Given the description of an element on the screen output the (x, y) to click on. 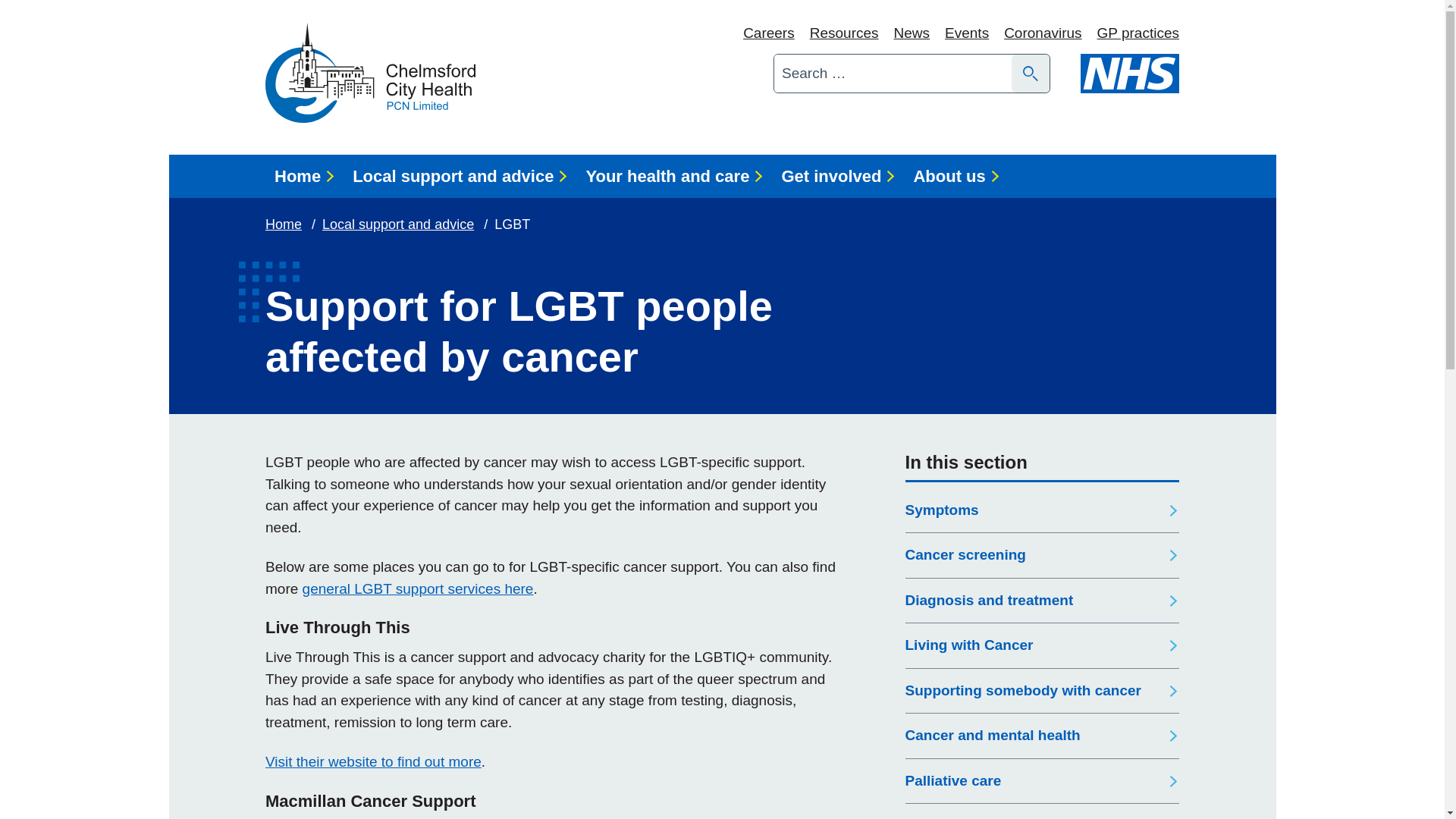
News (911, 33)
About us (955, 176)
Go to Local support and advice. (399, 224)
Go to The Chelmsford City Health PCN. (284, 224)
general LGBT support services here (418, 588)
Your health and care (673, 176)
The Chelmsford City Health PCN Homepage (370, 72)
Visit their website to find out more (372, 761)
Home (284, 224)
Local support and advice (459, 176)
Coronavirus (1042, 33)
Local support and advice (399, 224)
Careers (768, 33)
Events (966, 33)
Get involved (837, 176)
